Given the description of an element on the screen output the (x, y) to click on. 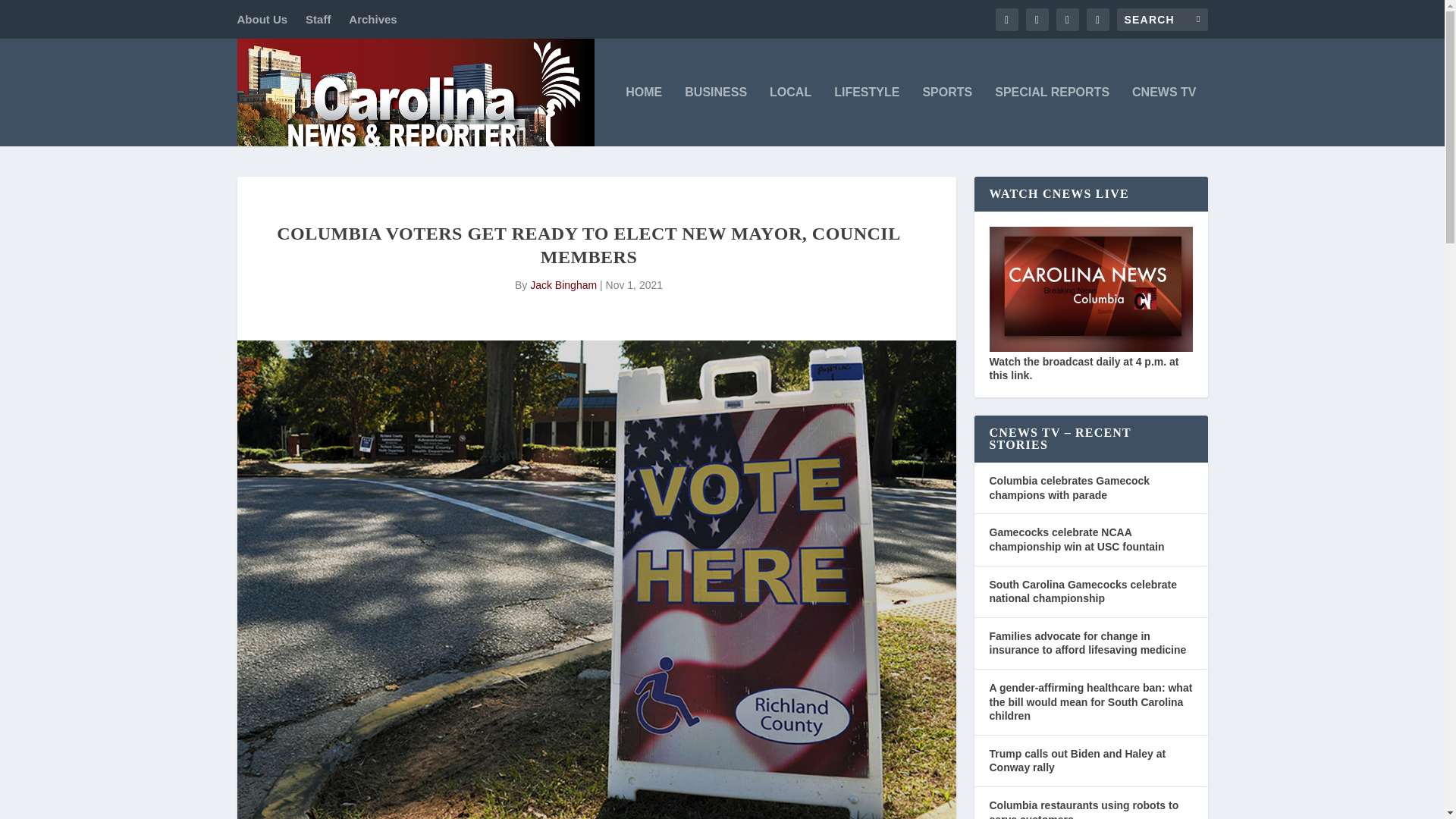
About Us (260, 19)
Staff (317, 19)
Jack Bingham (562, 285)
CNEWS TV (1163, 116)
HOME (644, 116)
Posts by Jack Bingham (562, 285)
SPORTS (946, 116)
Archives (372, 19)
LOCAL (790, 116)
BUSINESS (715, 116)
SPECIAL REPORTS (1051, 116)
Search for: (1161, 18)
LIFESTYLE (866, 116)
